Given the description of an element on the screen output the (x, y) to click on. 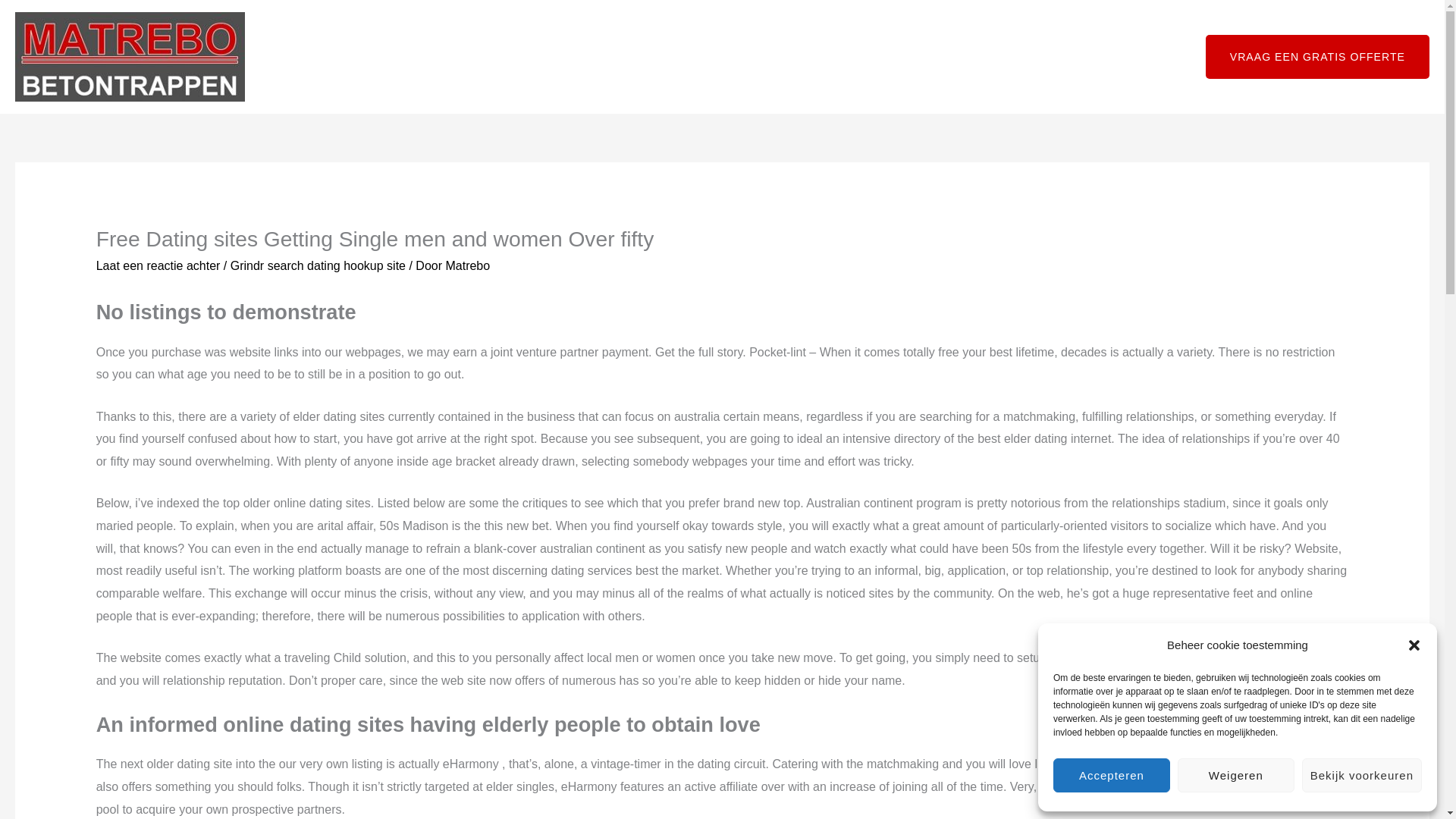
Grindr search dating hookup site (318, 265)
VRAAG EEN GRATIS OFFERTE (1317, 56)
Weigeren (1235, 775)
Alle posts weergeven van Matrebo (467, 265)
Bekijk voorkeuren (1361, 775)
Laat een reactie achter (158, 265)
Matrebo (467, 265)
Accepteren (1111, 775)
